Given the description of an element on the screen output the (x, y) to click on. 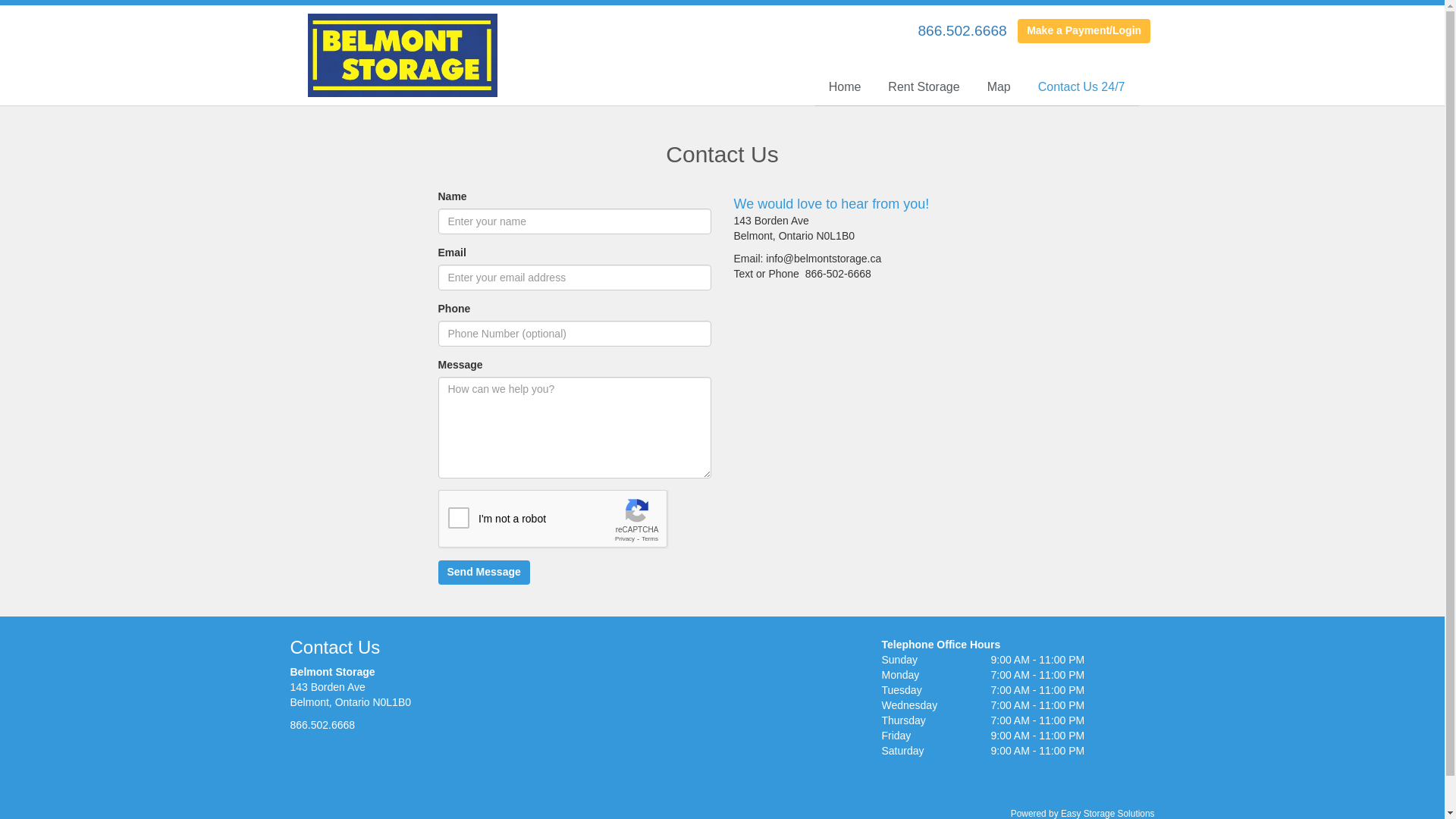
Contact Us 24/7 Element type: text (1081, 87)
Map Element type: text (998, 87)
Rent Storage Element type: text (923, 87)
Home Element type: text (845, 87)
Make a Payment/Login Element type: text (1083, 30)
866.502.6668 Element type: text (321, 724)
Send Message Element type: text (484, 572)
reCAPTCHA Element type: hover (553, 519)
866.502.6668 Element type: text (961, 30)
